Given the description of an element on the screen output the (x, y) to click on. 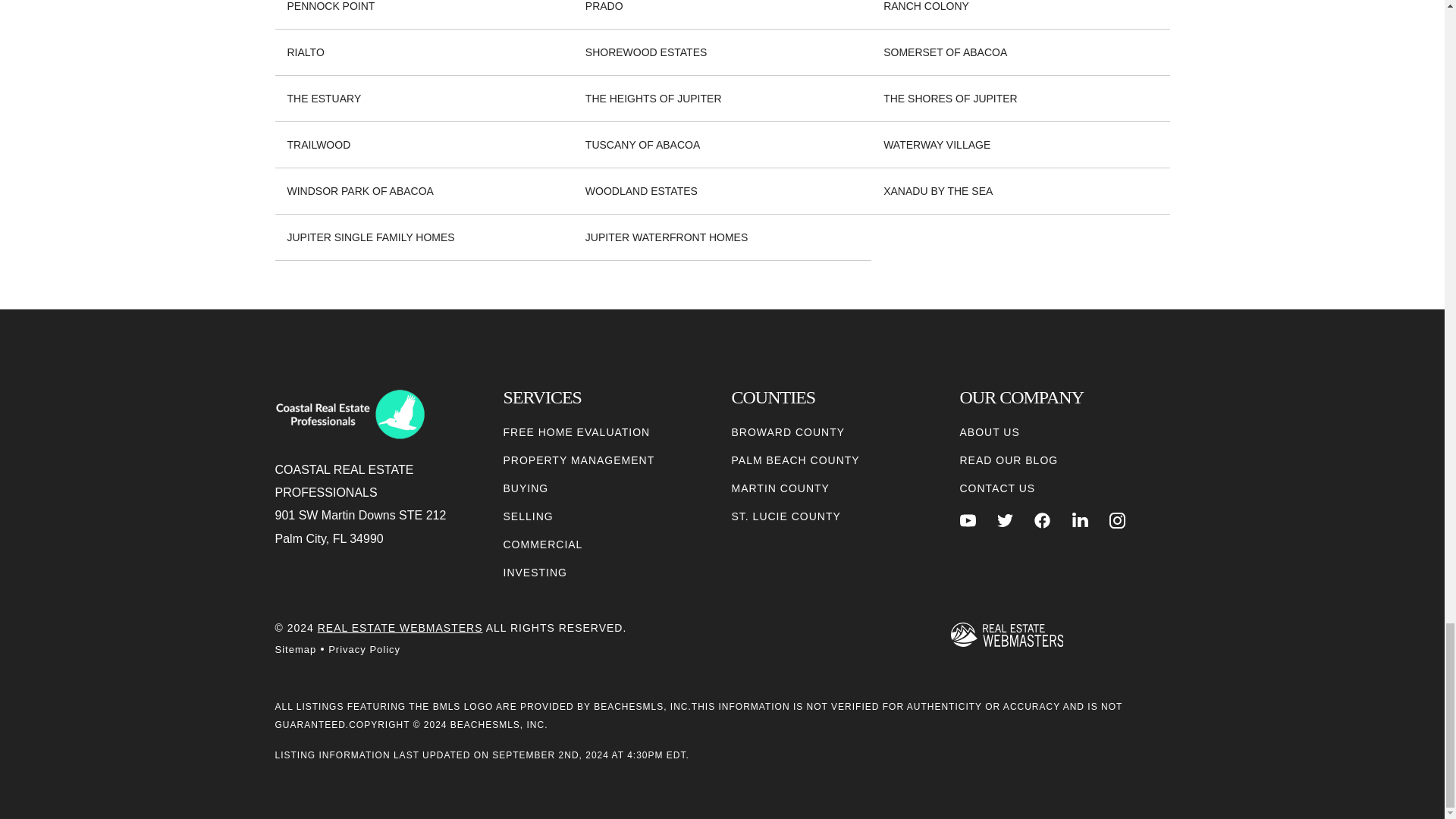
LINKEDIN (1079, 520)
TWITTER (1005, 520)
FACEBOOK (1041, 520)
YOUTUBE (967, 520)
